Given the description of an element on the screen output the (x, y) to click on. 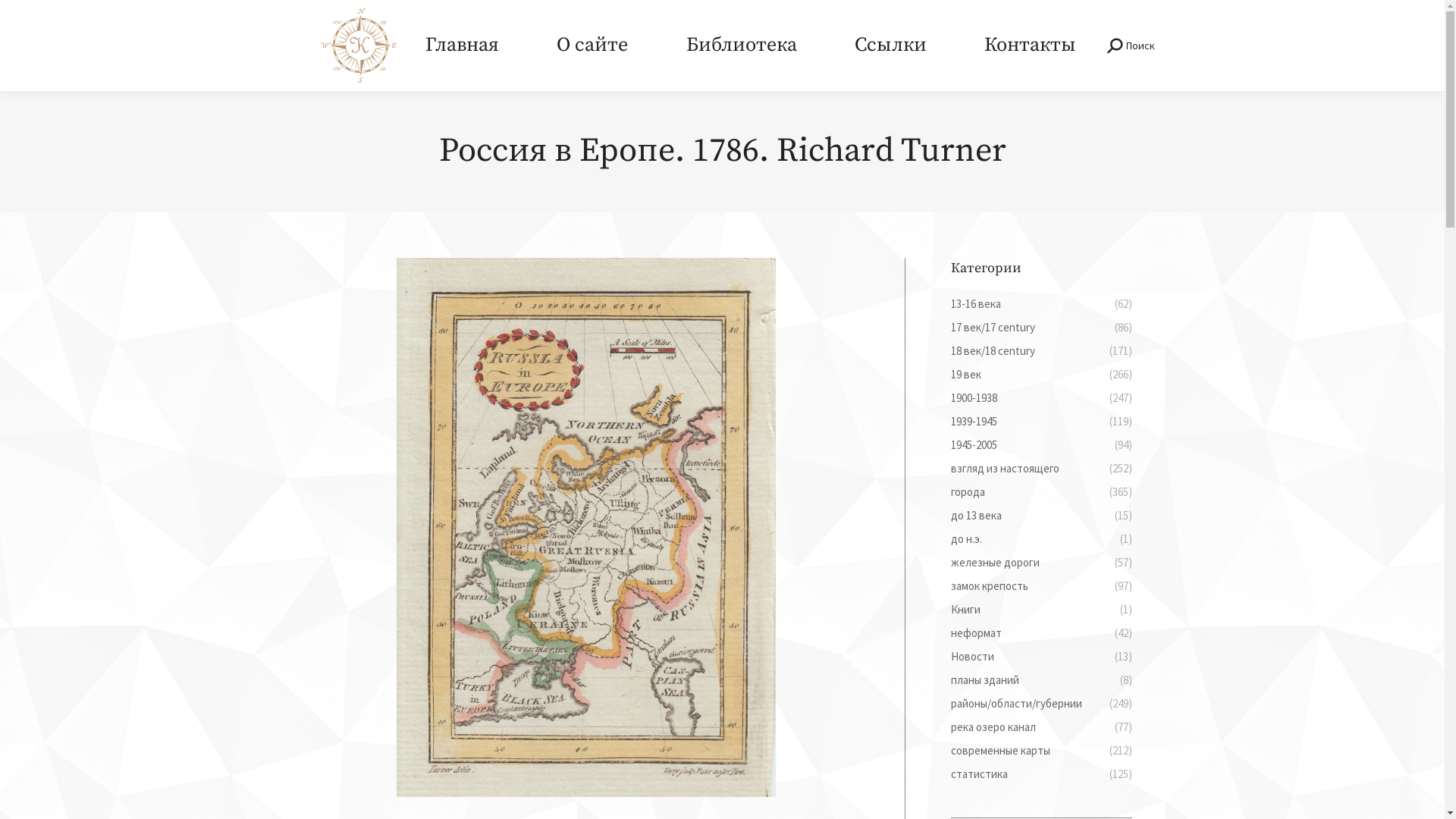
1786TURNER Element type: hover (585, 527)
